Given the description of an element on the screen output the (x, y) to click on. 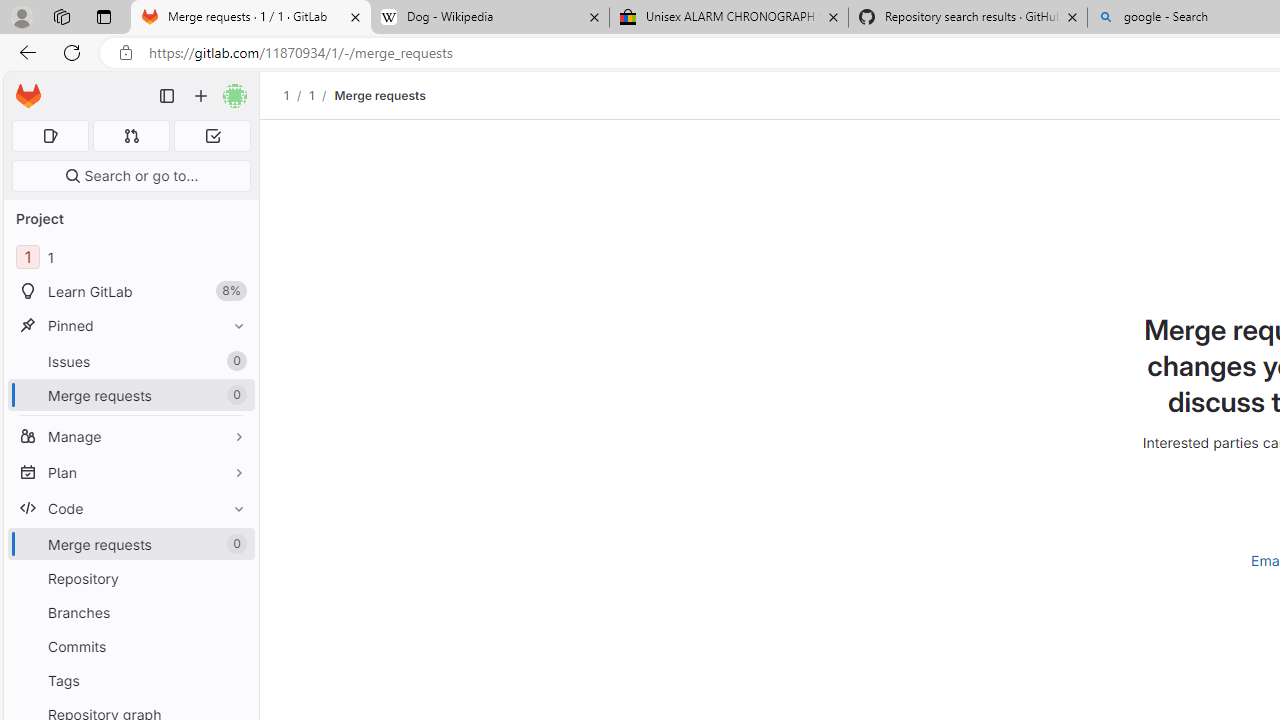
Plan (130, 471)
Pinned (130, 325)
Homepage (27, 96)
Code (130, 507)
1 (311, 95)
Assigned issues 0 (50, 136)
Skip to main content (23, 87)
To-Do list 0 (212, 136)
Pin Commits (234, 646)
Merge requests 0 (130, 543)
